Given the description of an element on the screen output the (x, y) to click on. 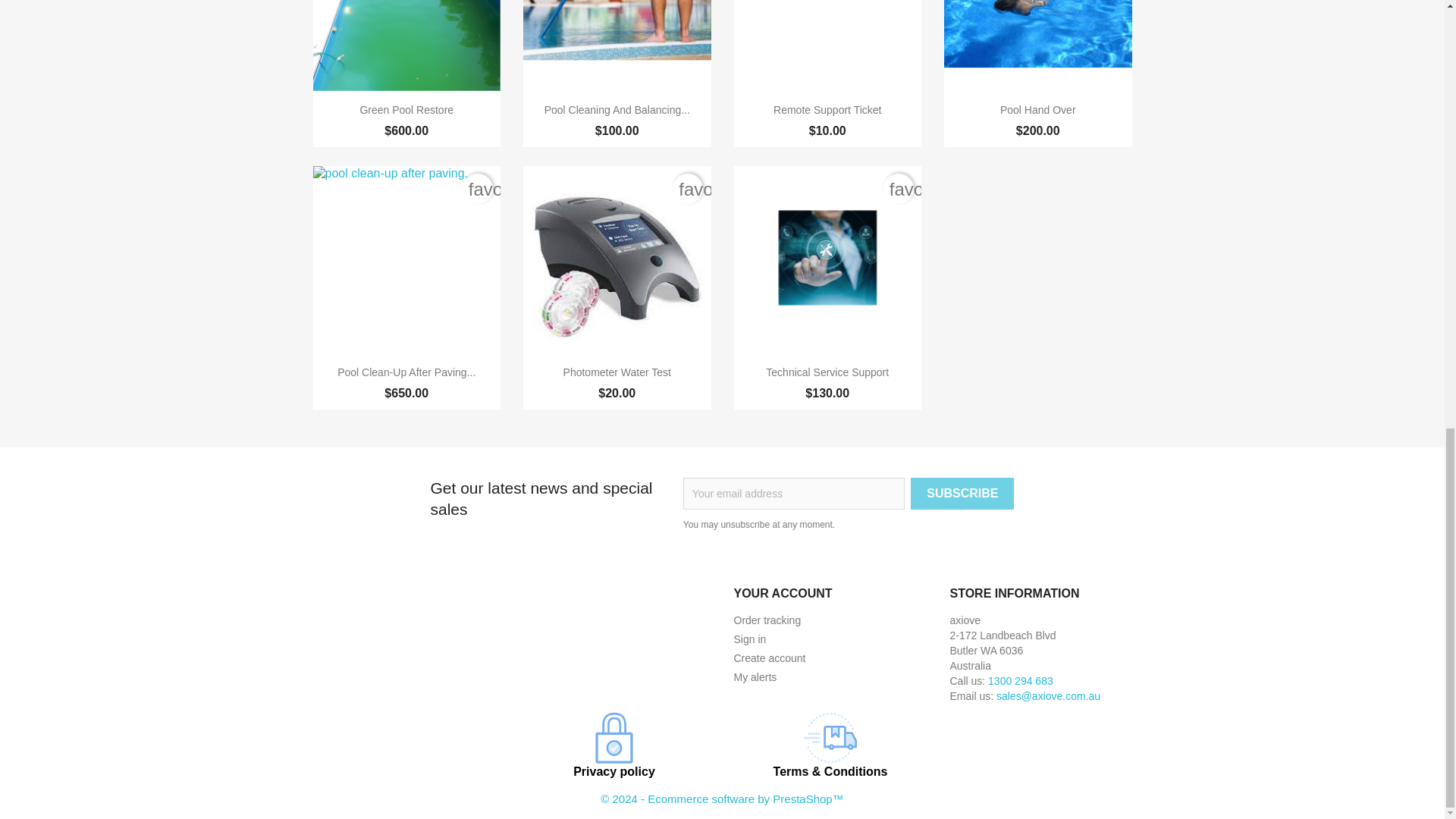
Subscribe (962, 493)
Create account (769, 657)
Order tracking (767, 620)
Log in to your customer account (750, 639)
My alerts (755, 676)
